Given the description of an element on the screen output the (x, y) to click on. 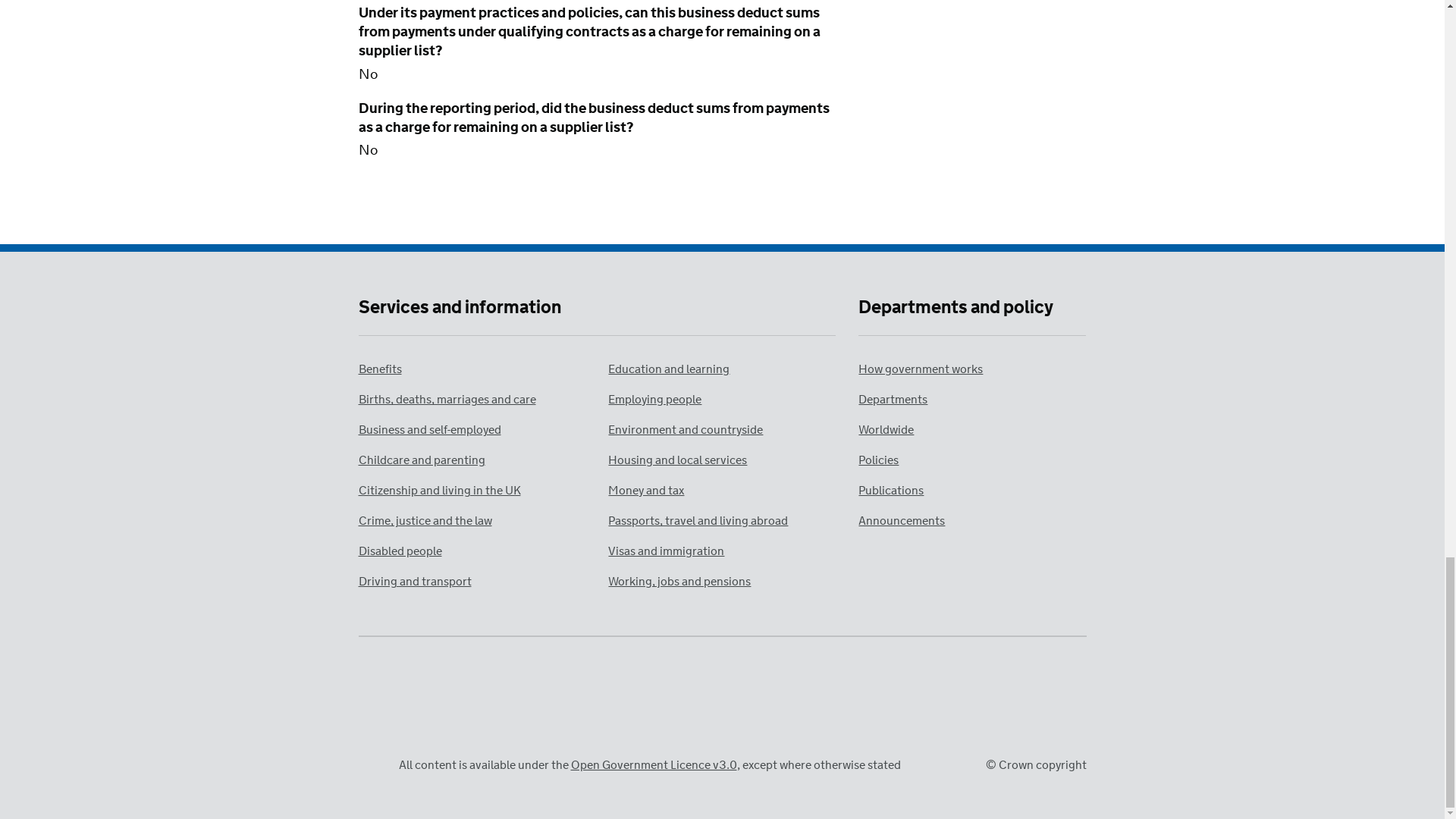
Policies (878, 460)
Citizenship and living in the UK (438, 490)
Crime, justice and the law (425, 521)
Benefits (379, 369)
Open Government Licence v3.0 (653, 765)
Publications (891, 490)
Announcements (901, 521)
Childcare and parenting (421, 460)
Passports, travel and living abroad (697, 521)
Working, jobs and pensions (679, 581)
